Given the description of an element on the screen output the (x, y) to click on. 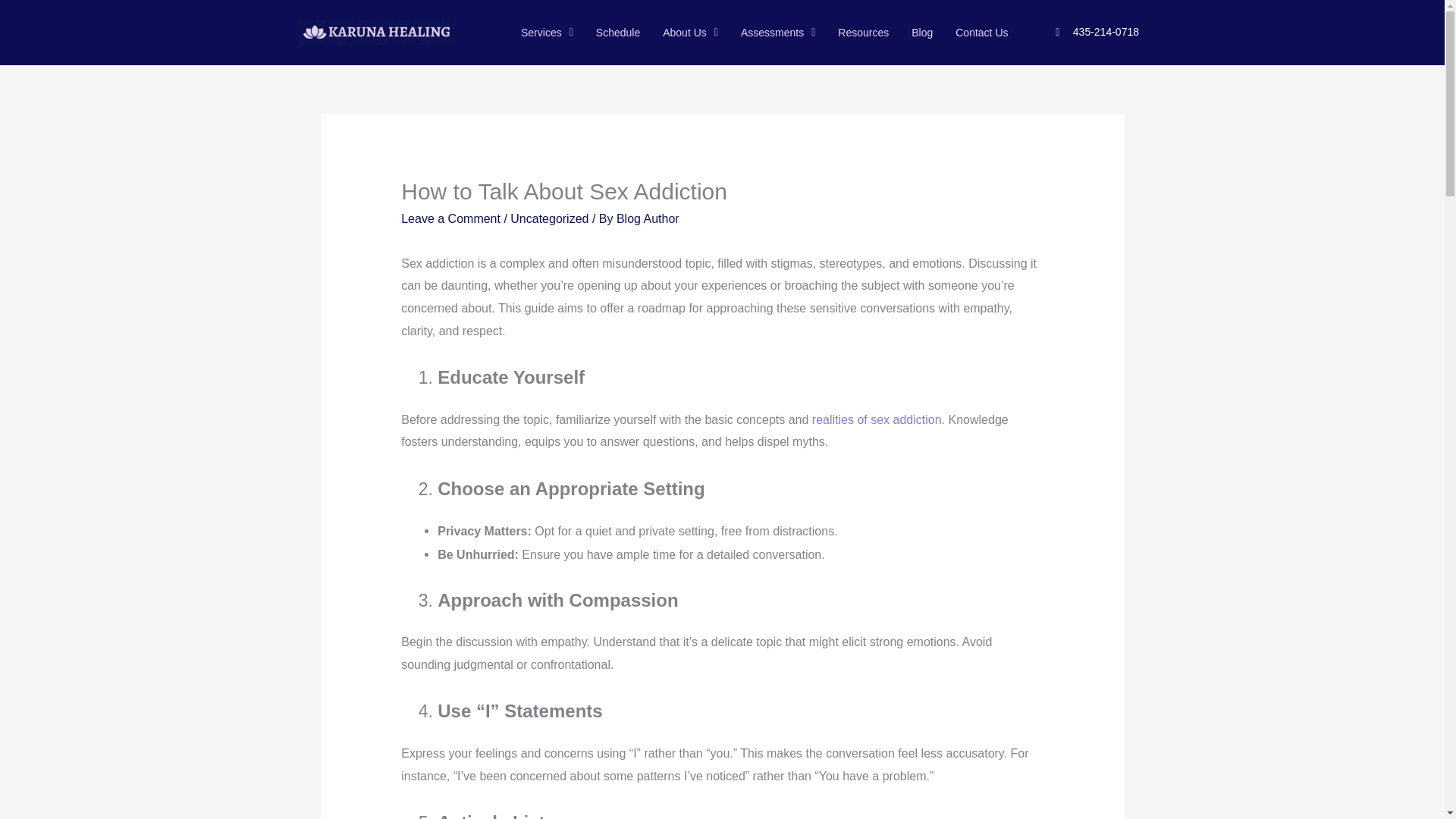
karuna healing blue background 11-10 (375, 32)
Contact Us (981, 32)
View all posts by Blog Author (647, 218)
About Us (689, 32)
Resources (863, 32)
Services (547, 32)
Assessments (778, 32)
Blog (921, 32)
Schedule (617, 32)
